Given the description of an element on the screen output the (x, y) to click on. 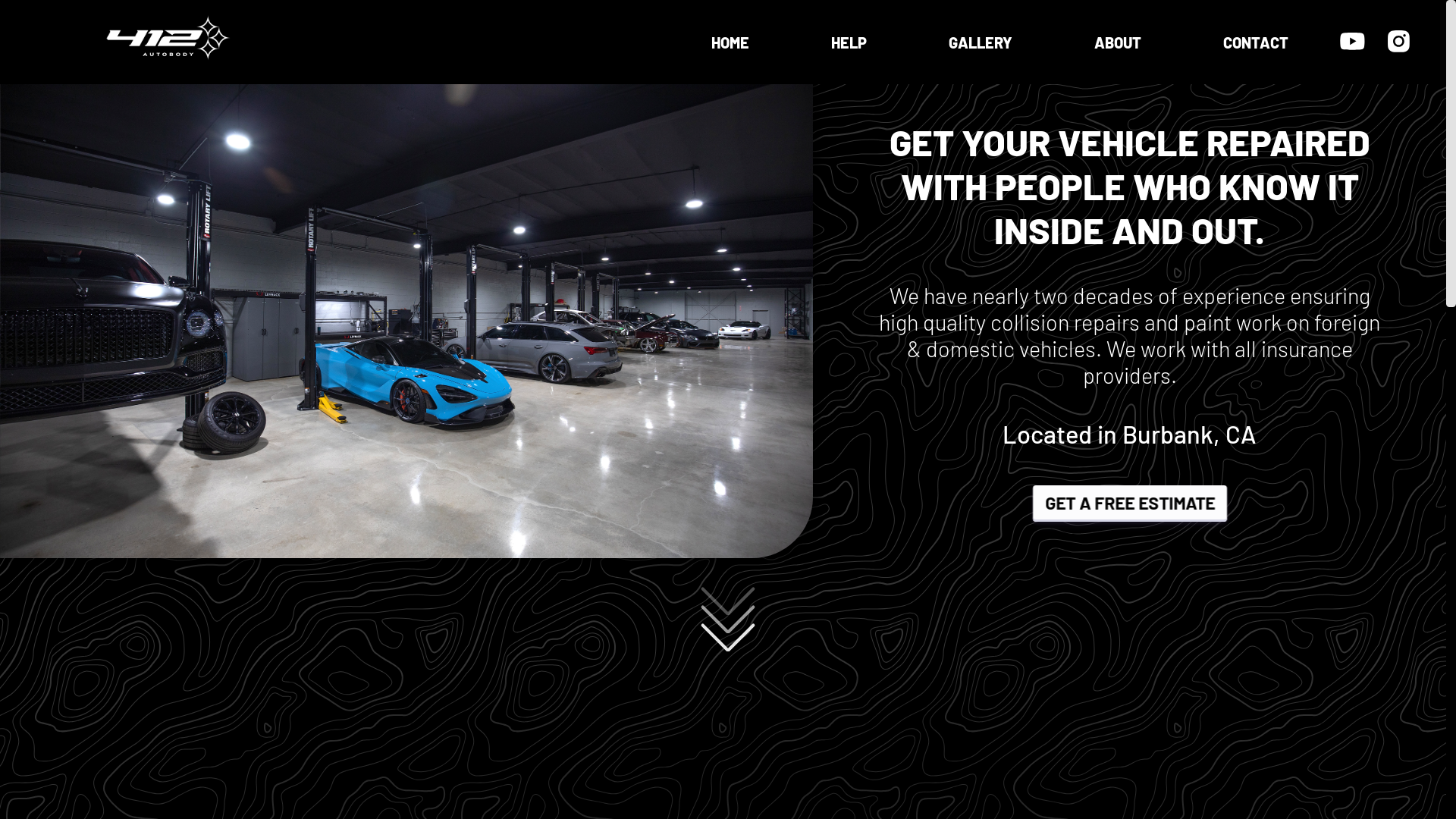
GET A FREE ESTIMATE Element type: text (1129, 503)
